Given the description of an element on the screen output the (x, y) to click on. 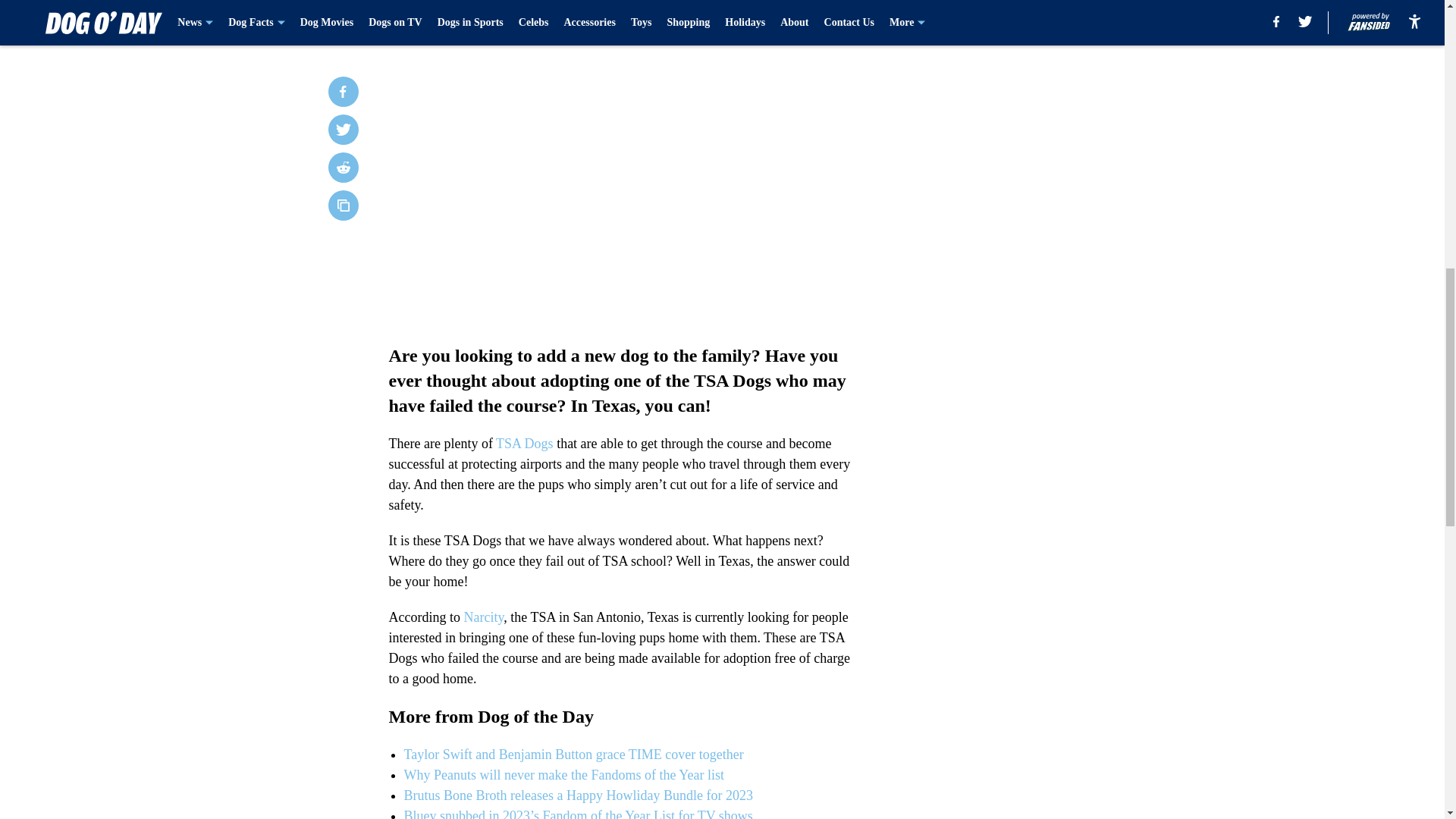
Narcity (483, 616)
Brutus Bone Broth releases a Happy Howliday Bundle for 2023 (577, 795)
Taylor Swift and Benjamin Button grace TIME cover together (572, 754)
TSA Dogs (524, 443)
Why Peanuts will never make the Fandoms of the Year list (563, 774)
